Given the description of an element on the screen output the (x, y) to click on. 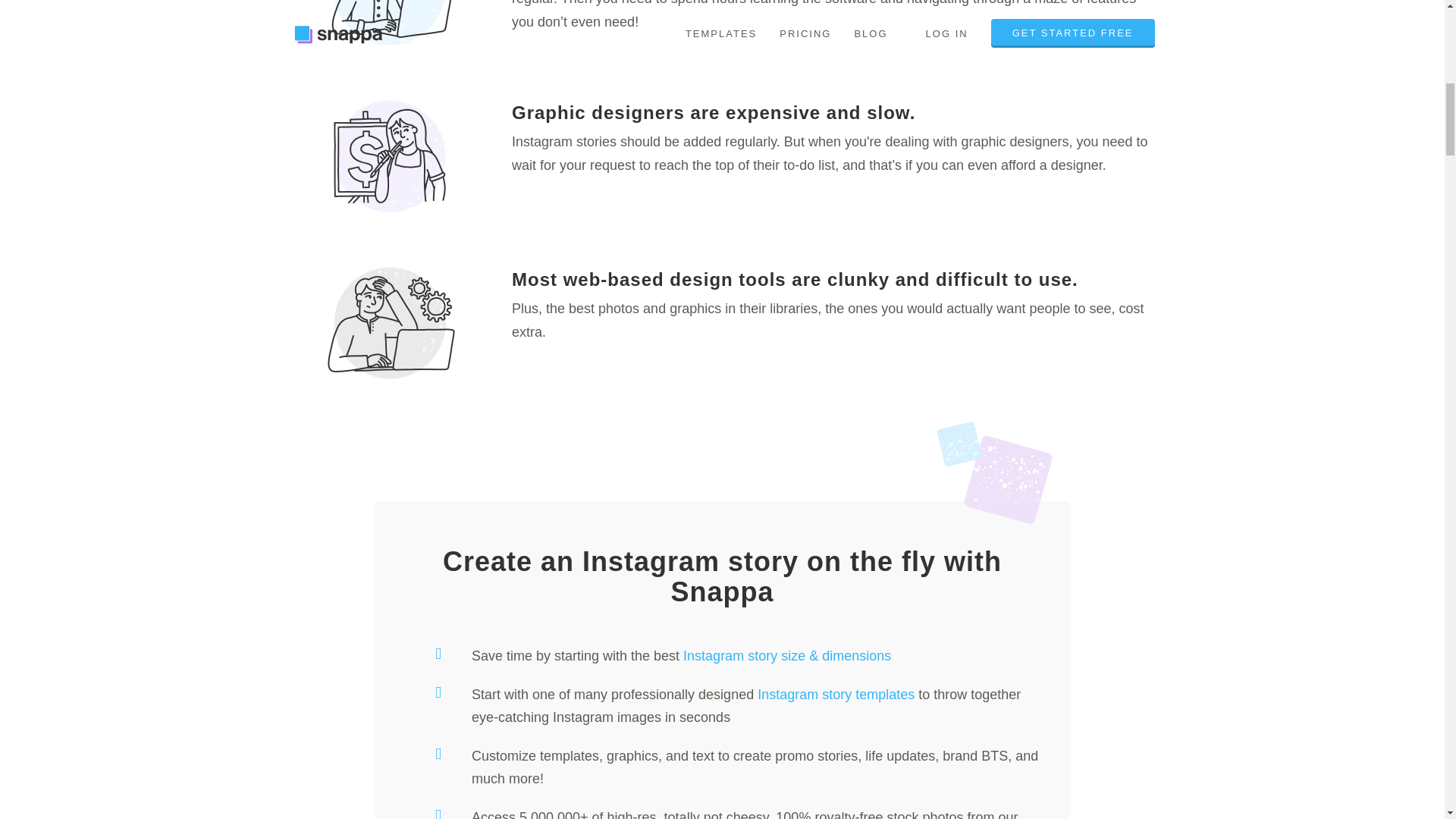
Instagram story templates (835, 694)
